Given the description of an element on the screen output the (x, y) to click on. 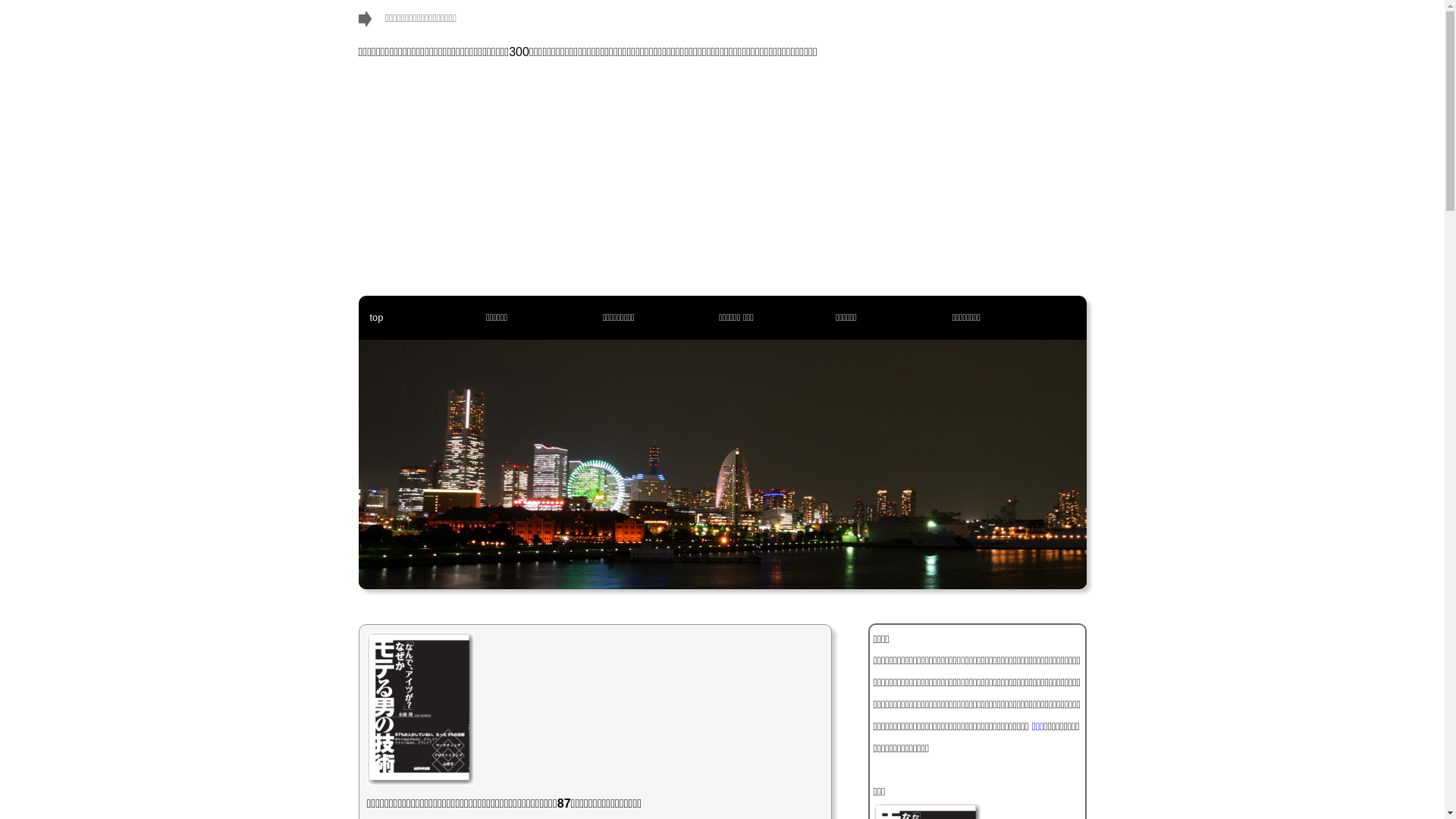
Advertisement Element type: hover (721, 181)
top Element type: text (375, 317)
